Given the description of an element on the screen output the (x, y) to click on. 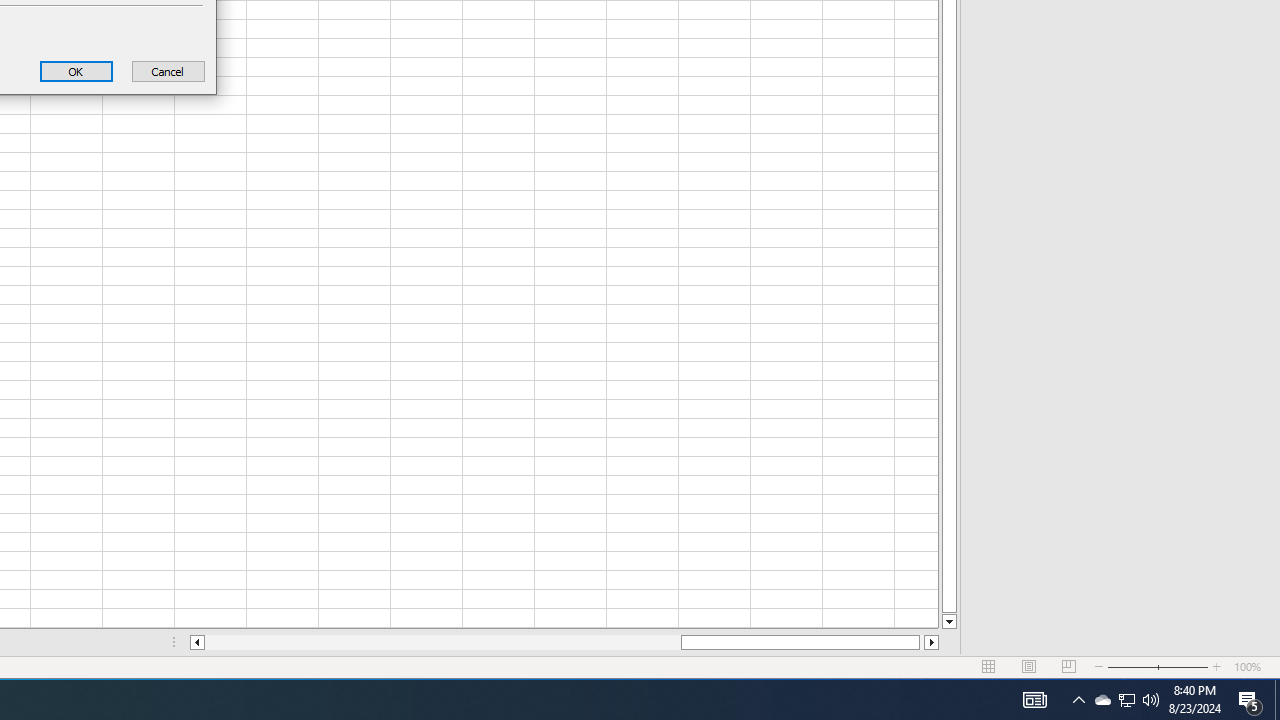
Notification Chevron (1102, 699)
AutomationID: 4105 (1078, 699)
